Given the description of an element on the screen output the (x, y) to click on. 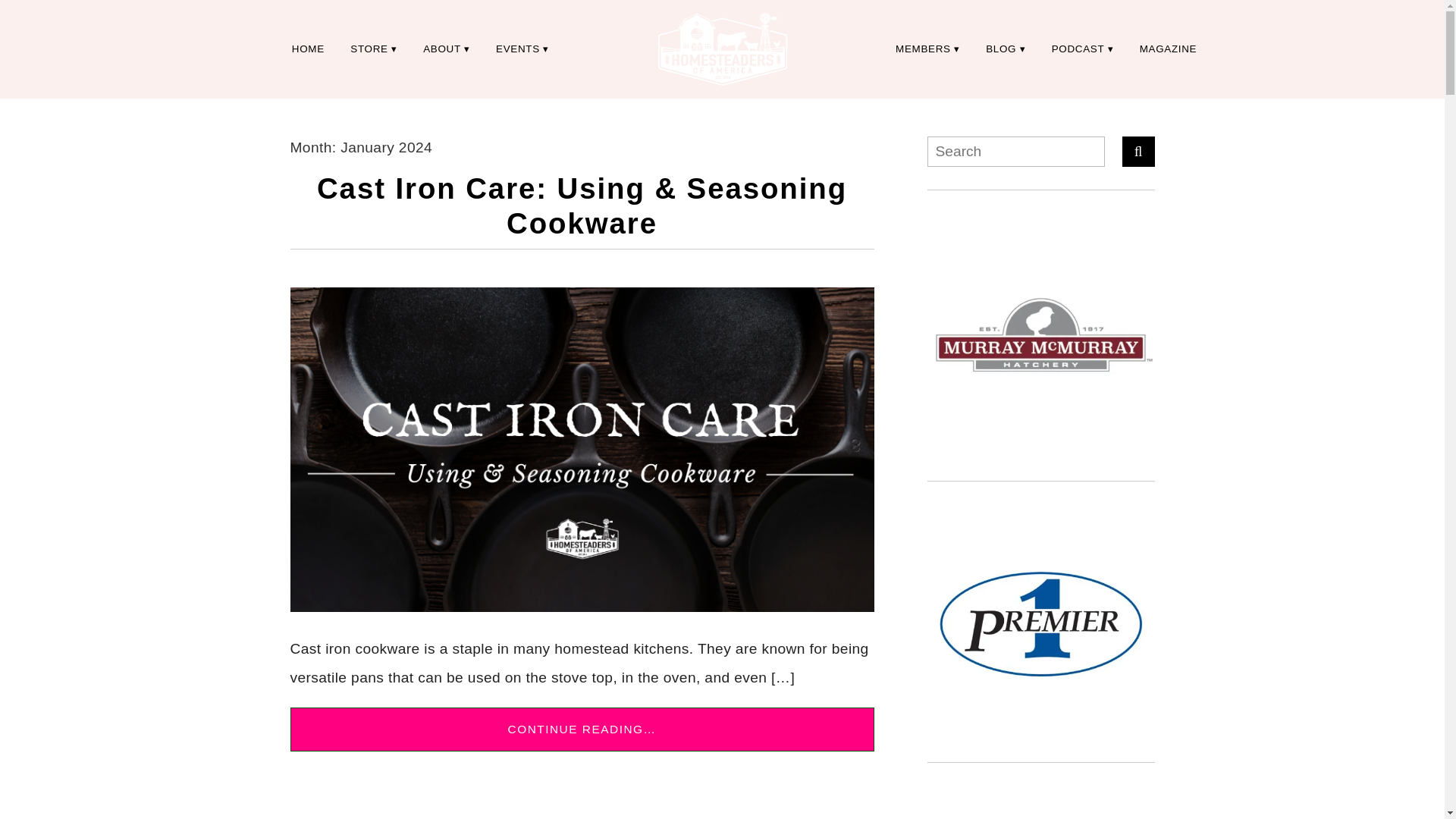
MEMBERS (927, 48)
STORE (374, 48)
EVENTS (522, 48)
HOME (308, 48)
Homesteaders of America (721, 48)
ABOUT (446, 48)
